Given the description of an element on the screen output the (x, y) to click on. 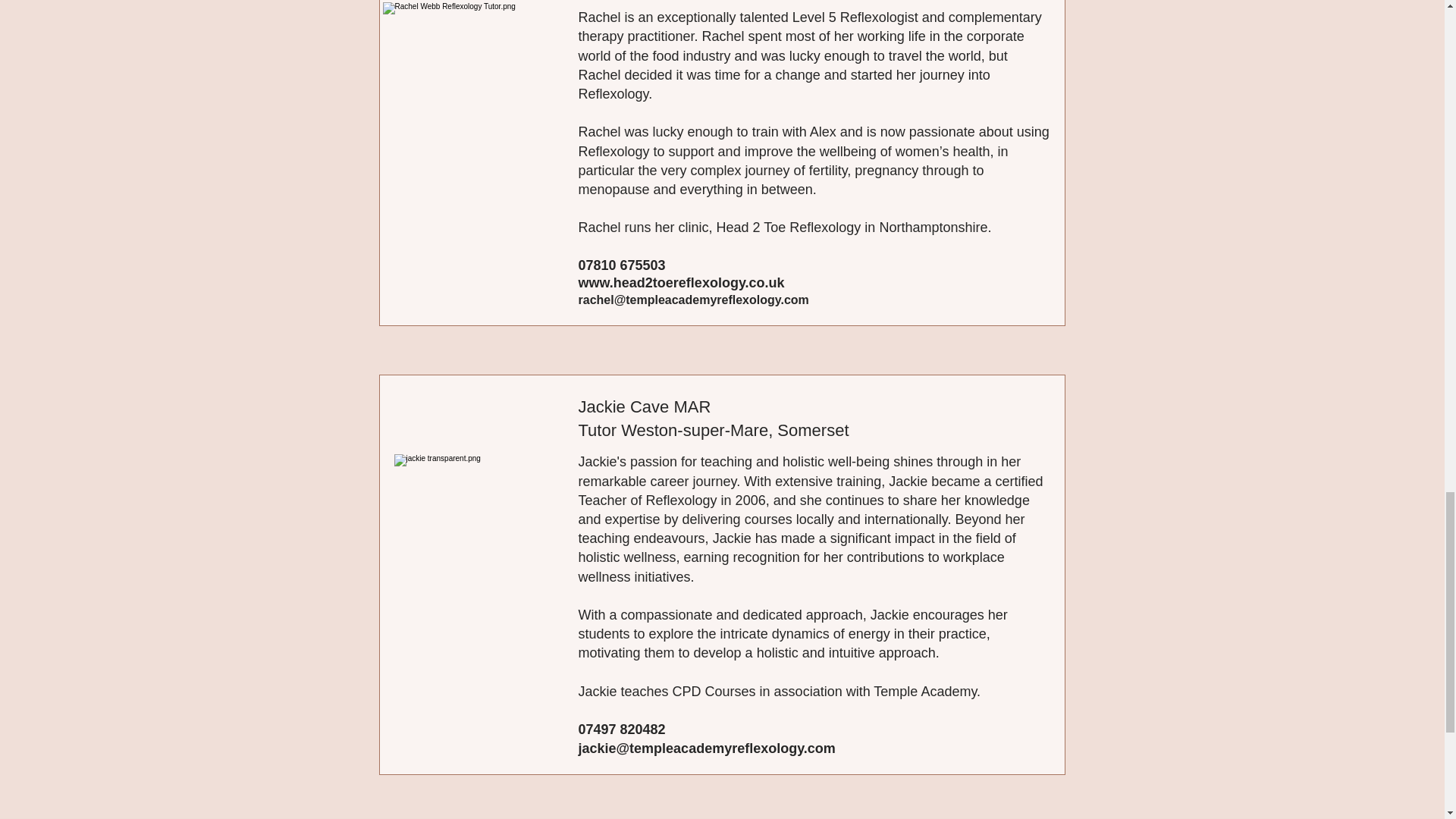
www.head2toereflexology.co.uk (681, 282)
07497 820482 (621, 729)
Jan Kleiner-Mann (476, 91)
07810 675503 (621, 264)
Jan Kleiner-Mann (479, 547)
